Given the description of an element on the screen output the (x, y) to click on. 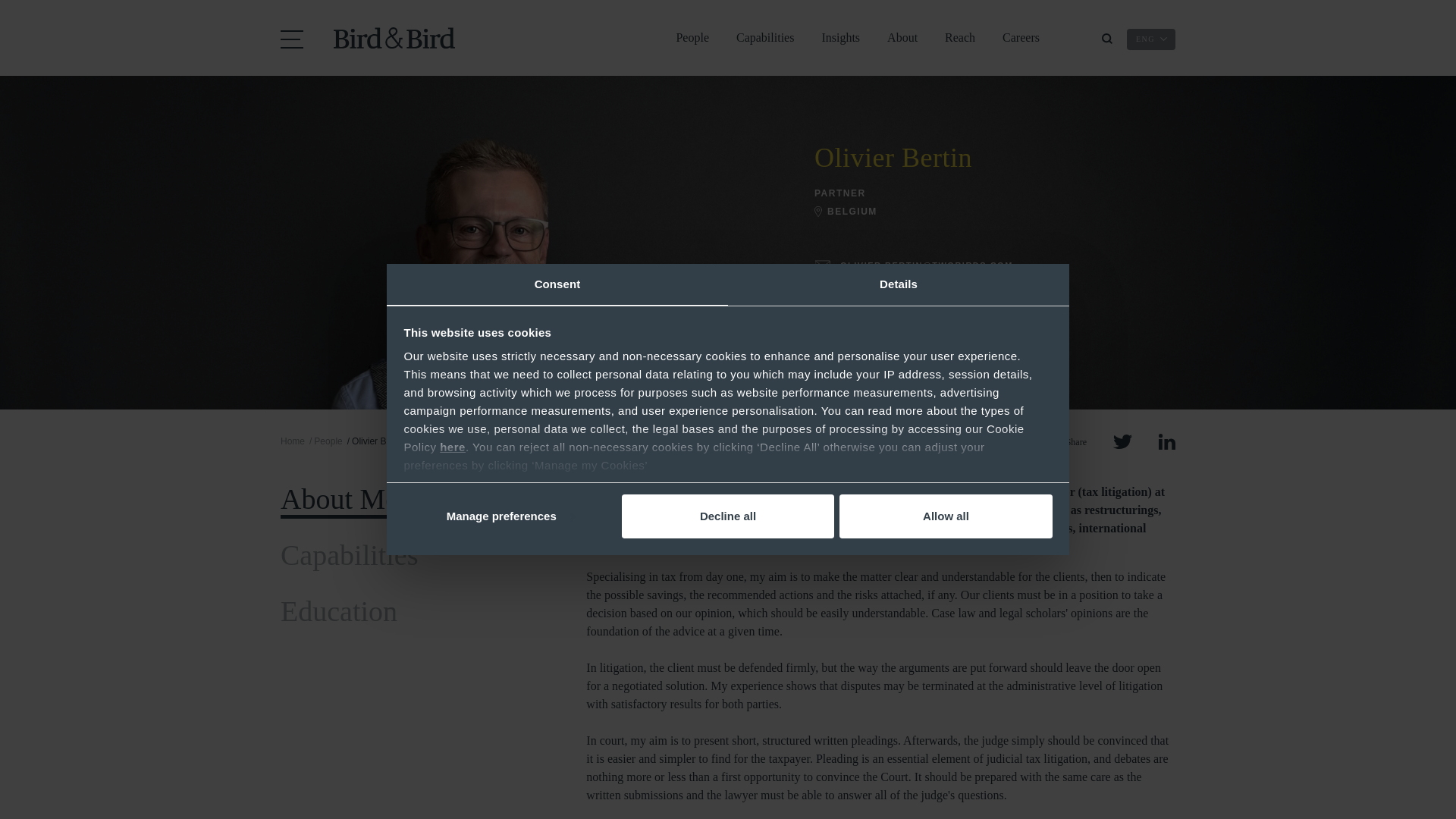
Consent (557, 284)
Details (898, 284)
here (452, 446)
